Given the description of an element on the screen output the (x, y) to click on. 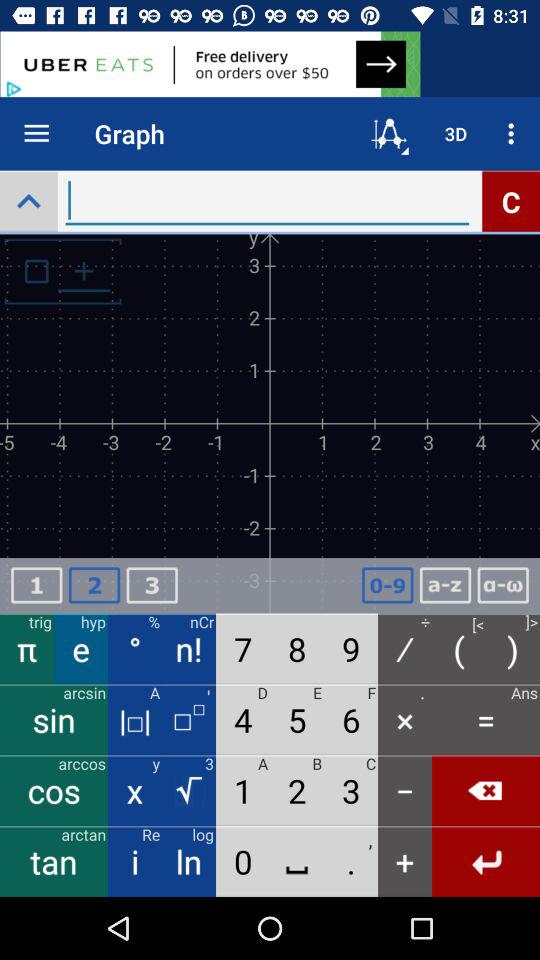
click the spelling word (503, 585)
